Given the description of an element on the screen output the (x, y) to click on. 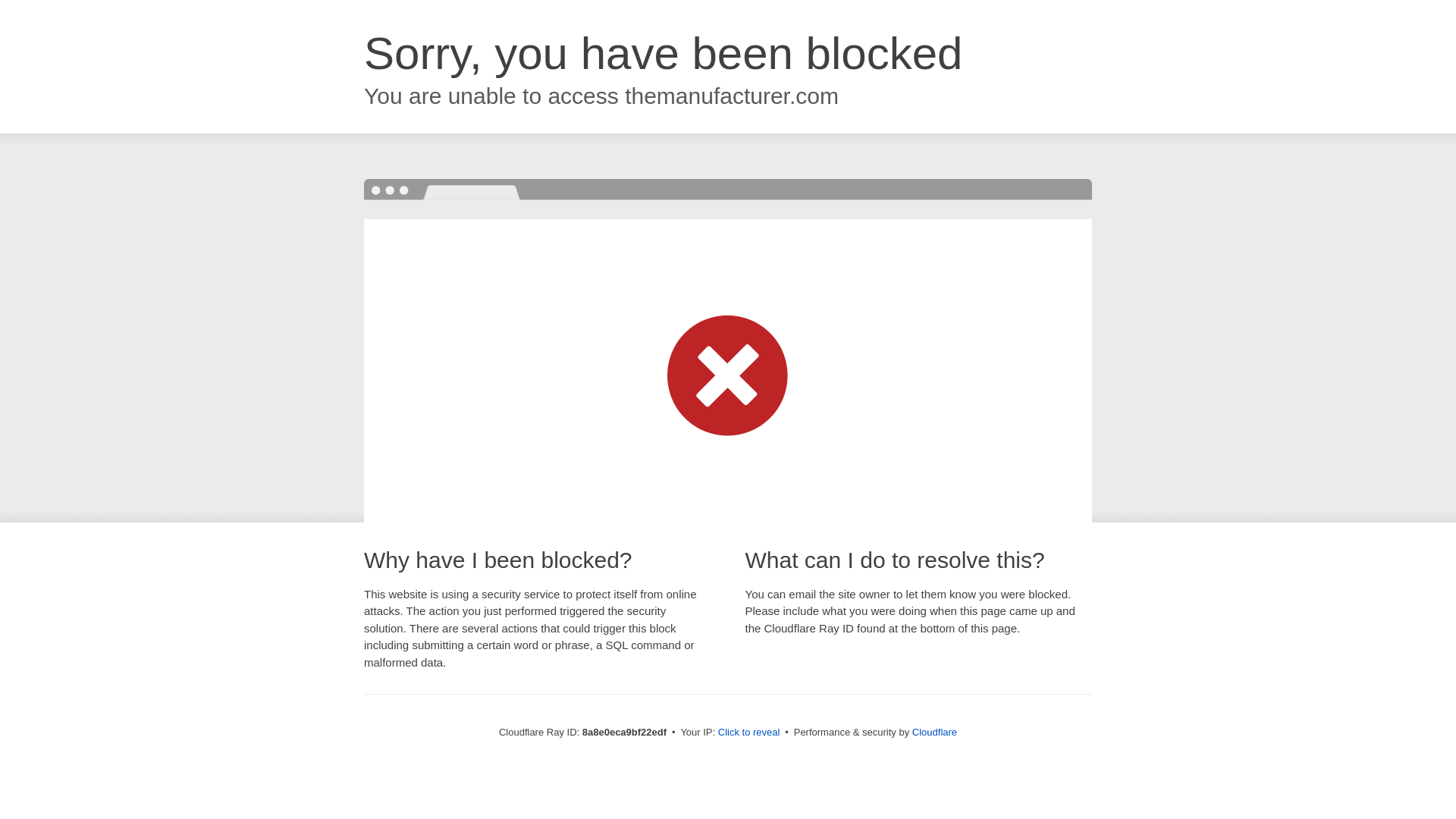
Click to reveal (748, 732)
Cloudflare (934, 731)
